Given the description of an element on the screen output the (x, y) to click on. 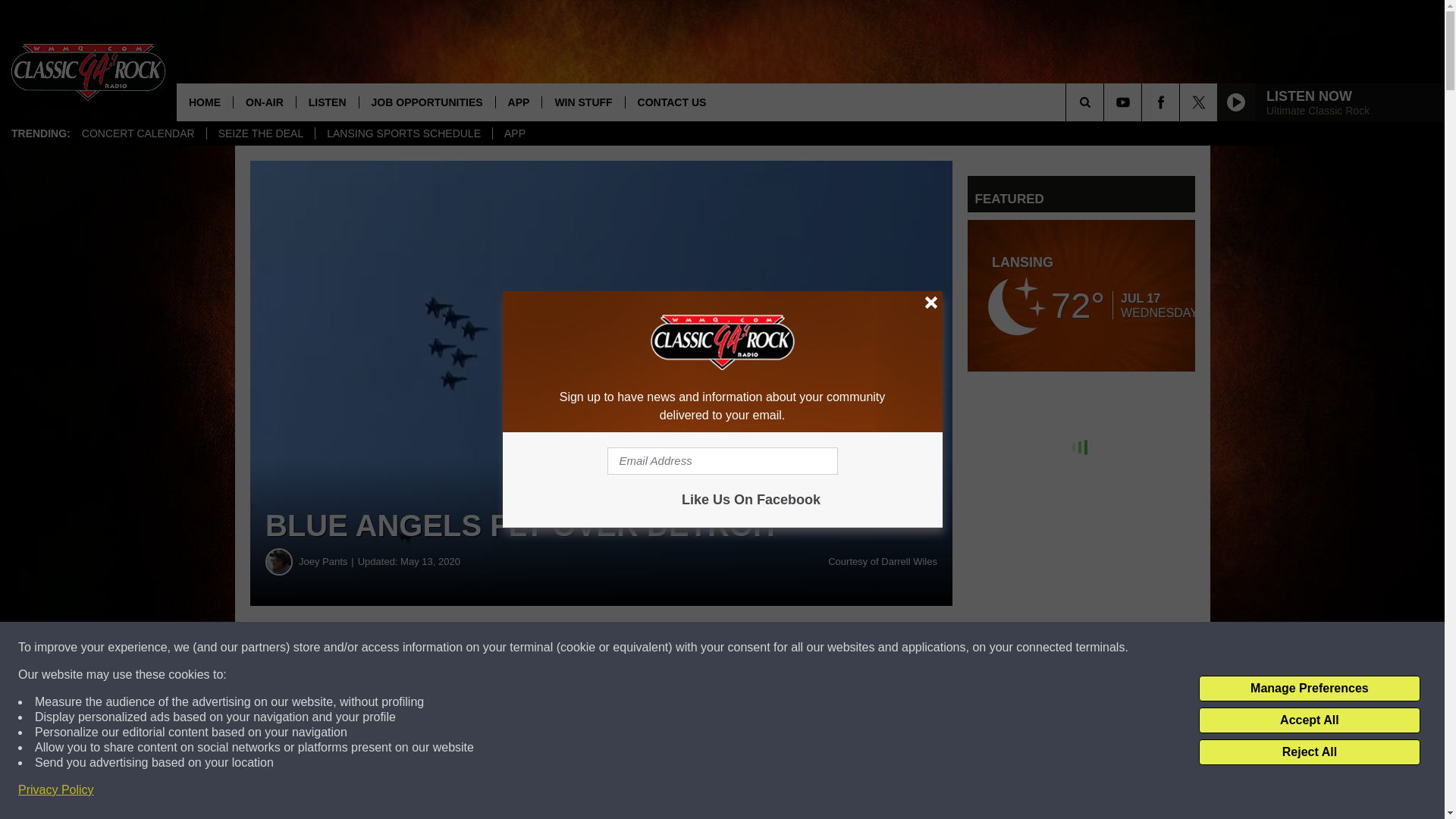
Accept All (1309, 720)
SEARCH (1106, 102)
Privacy Policy (55, 789)
SEIZE THE DEAL (260, 133)
APP (518, 102)
JOB OPPORTUNITIES (426, 102)
Manage Preferences (1309, 688)
ON-AIR (263, 102)
APP (514, 133)
CONCERT CALENDAR (137, 133)
HOME (204, 102)
SEARCH (1106, 102)
Share on Twitter (741, 647)
LISTEN (326, 102)
LANSING SPORTS SCHEDULE (403, 133)
